Given the description of an element on the screen output the (x, y) to click on. 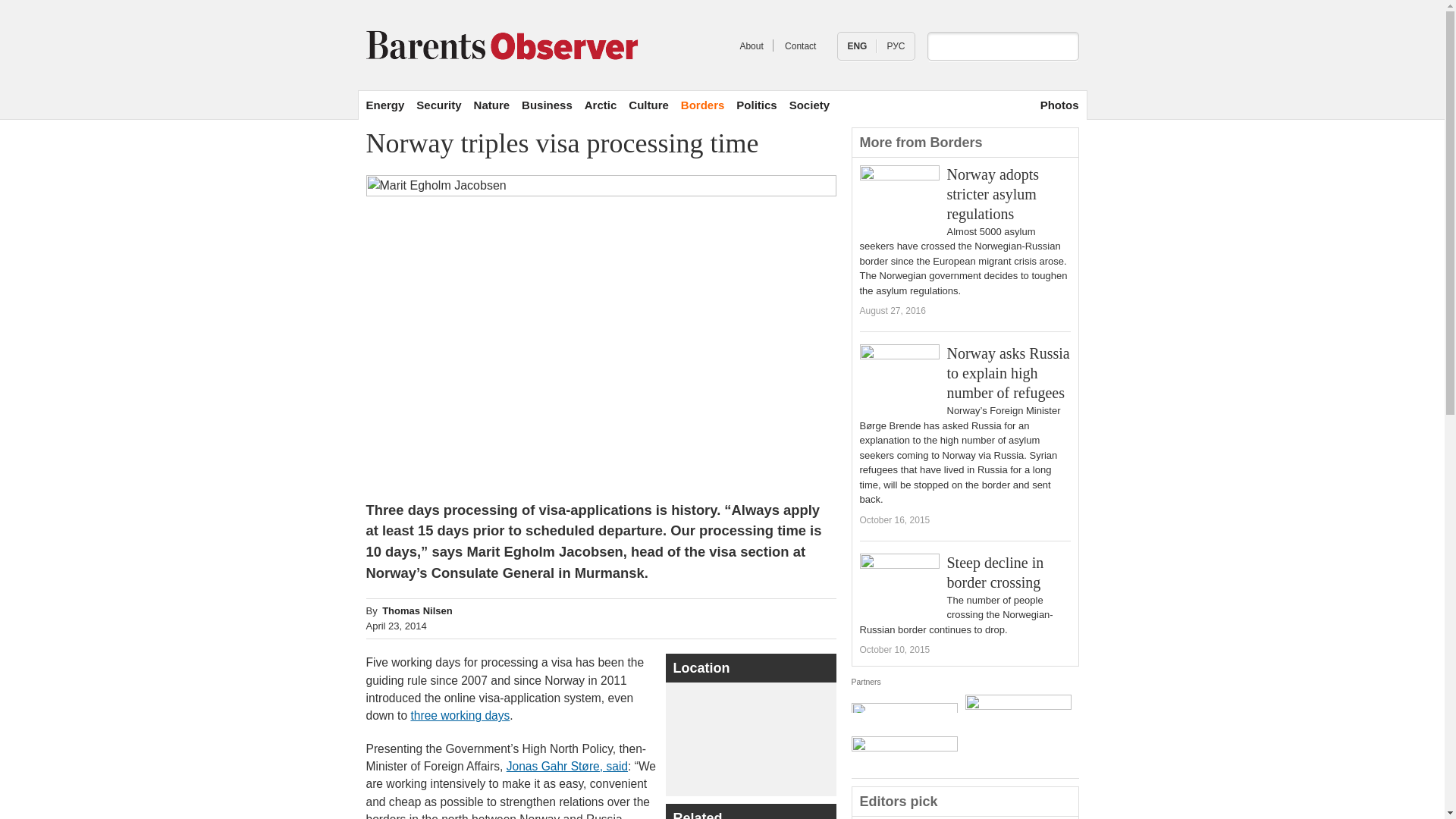
Business (546, 104)
Security (438, 104)
About (751, 45)
Politics (756, 104)
Society (809, 104)
ENG (856, 45)
Search (1066, 46)
Borders (703, 104)
Energy (384, 104)
Photos (1047, 104)
